Given the description of an element on the screen output the (x, y) to click on. 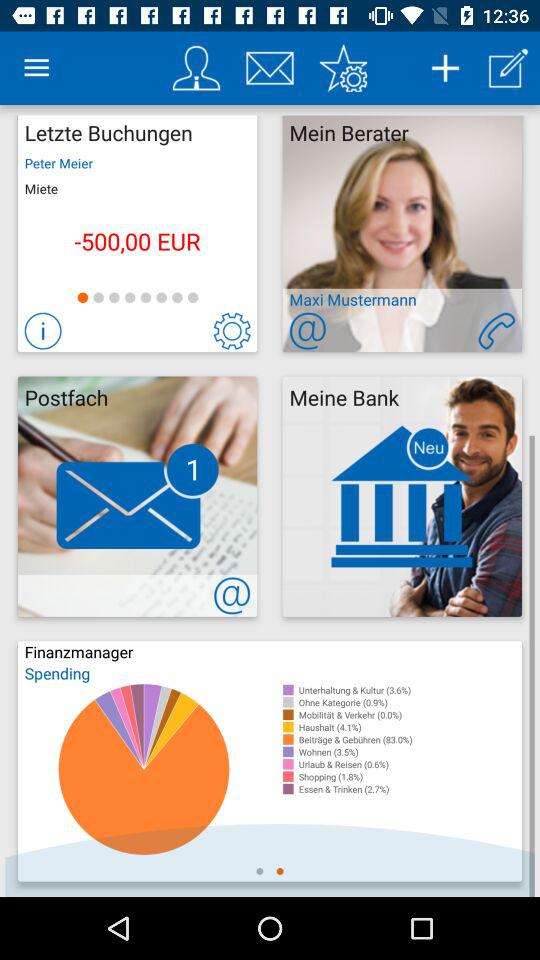
scroll to haushalt (4.1%) item (409, 727)
